Given the description of an element on the screen output the (x, y) to click on. 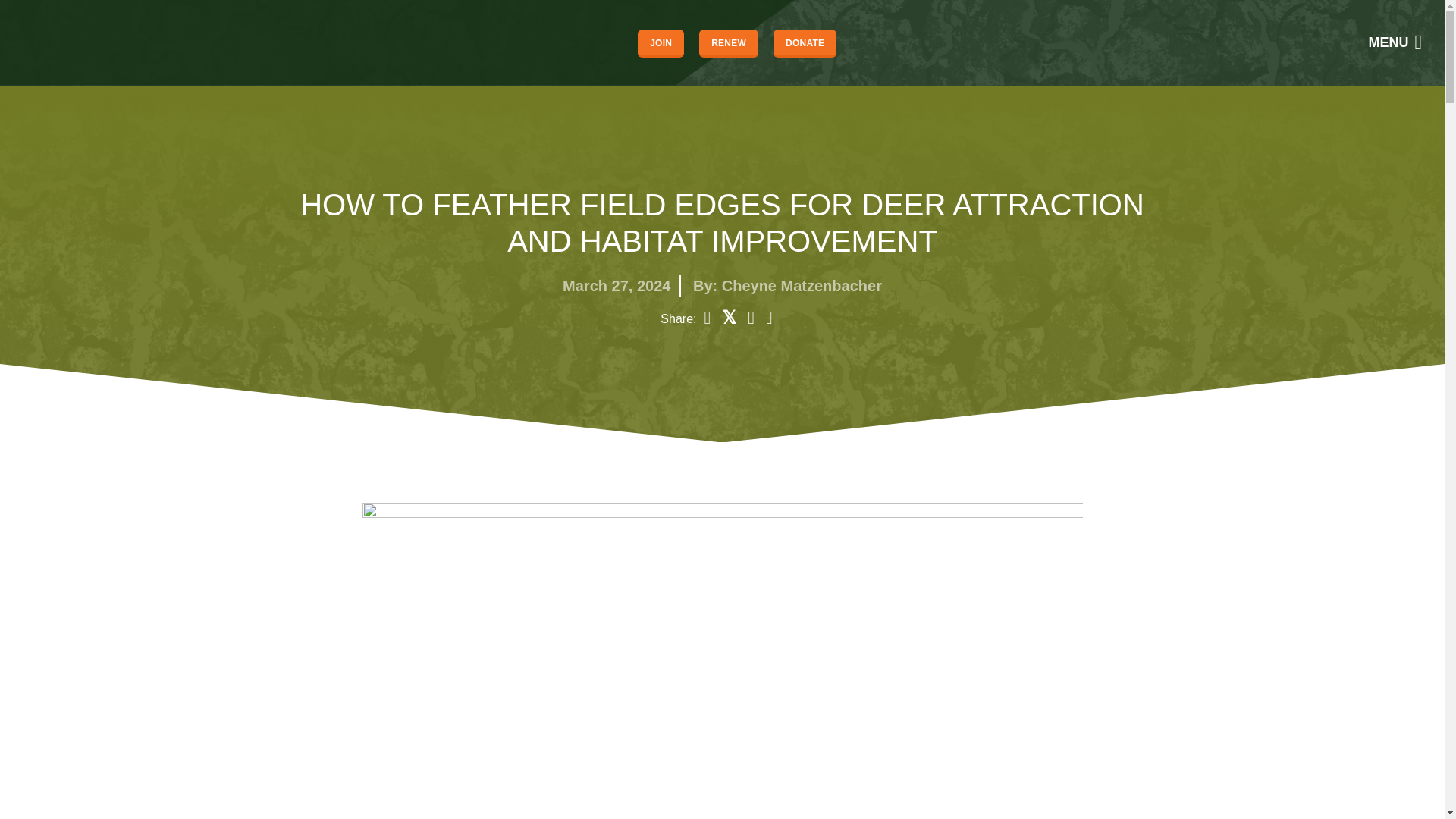
RENEW (728, 43)
DONATE (804, 43)
JOIN (660, 43)
NDA Logo White (63, 42)
